Given the description of an element on the screen output the (x, y) to click on. 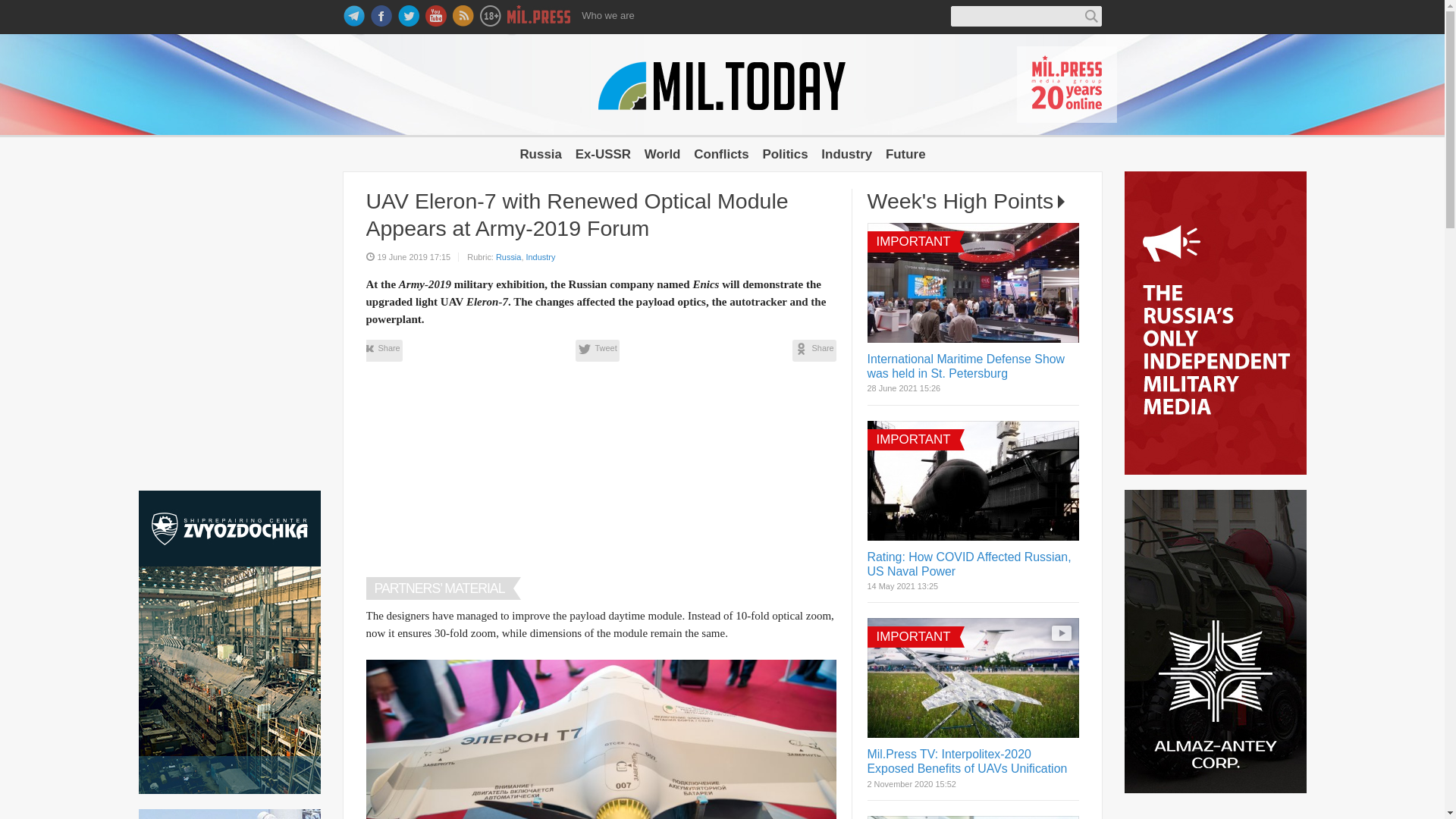
Future (905, 154)
Recon UAV Eleron-7 designed by Enics (600, 739)
Industry (846, 154)
Russia (540, 154)
Ex-USSR (602, 154)
Twitter (596, 350)
Who we are (607, 15)
Advertisement (600, 478)
World (663, 154)
Conflicts (721, 154)
Russia (508, 256)
Politics (784, 154)
